Given the description of an element on the screen output the (x, y) to click on. 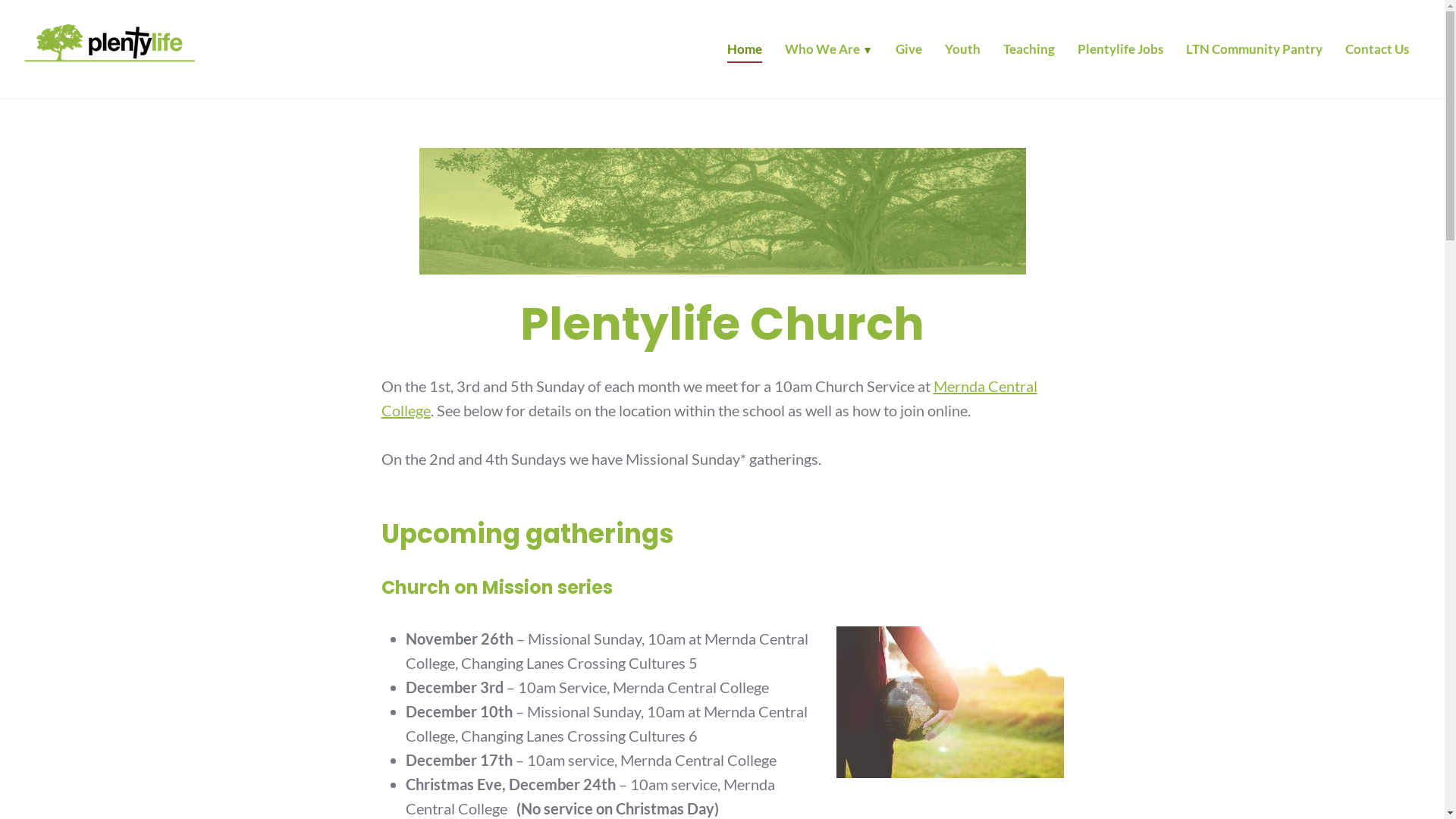
PlentyLife Element type: text (79, 87)
Plentylife Jobs Element type: text (1120, 51)
Contact Us Element type: text (1376, 51)
Teaching Element type: text (1028, 51)
Youth Element type: text (962, 51)
Home Element type: text (744, 51)
LTN Community Pantry Element type: text (1254, 51)
Give Element type: text (908, 51)
Who We Are Element type: text (828, 51)
Mernda Central College Element type: text (708, 397)
